Given the description of an element on the screen output the (x, y) to click on. 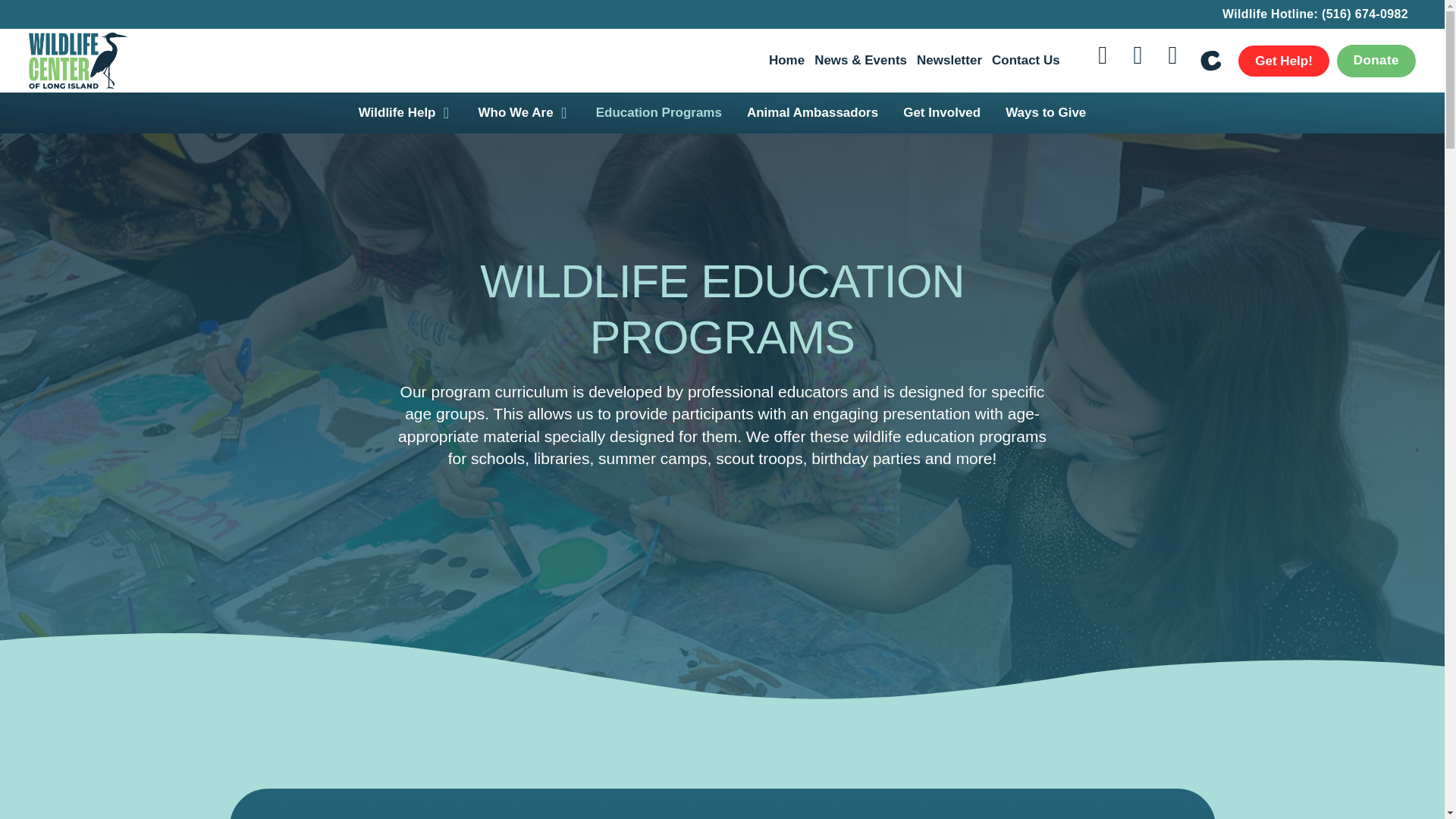
Home (786, 60)
Get Help! (1284, 60)
Contact Us (1025, 60)
Who We Are (516, 112)
Wildlife Help (396, 112)
Newsletter (949, 60)
Donate (1375, 60)
